Given the description of an element on the screen output the (x, y) to click on. 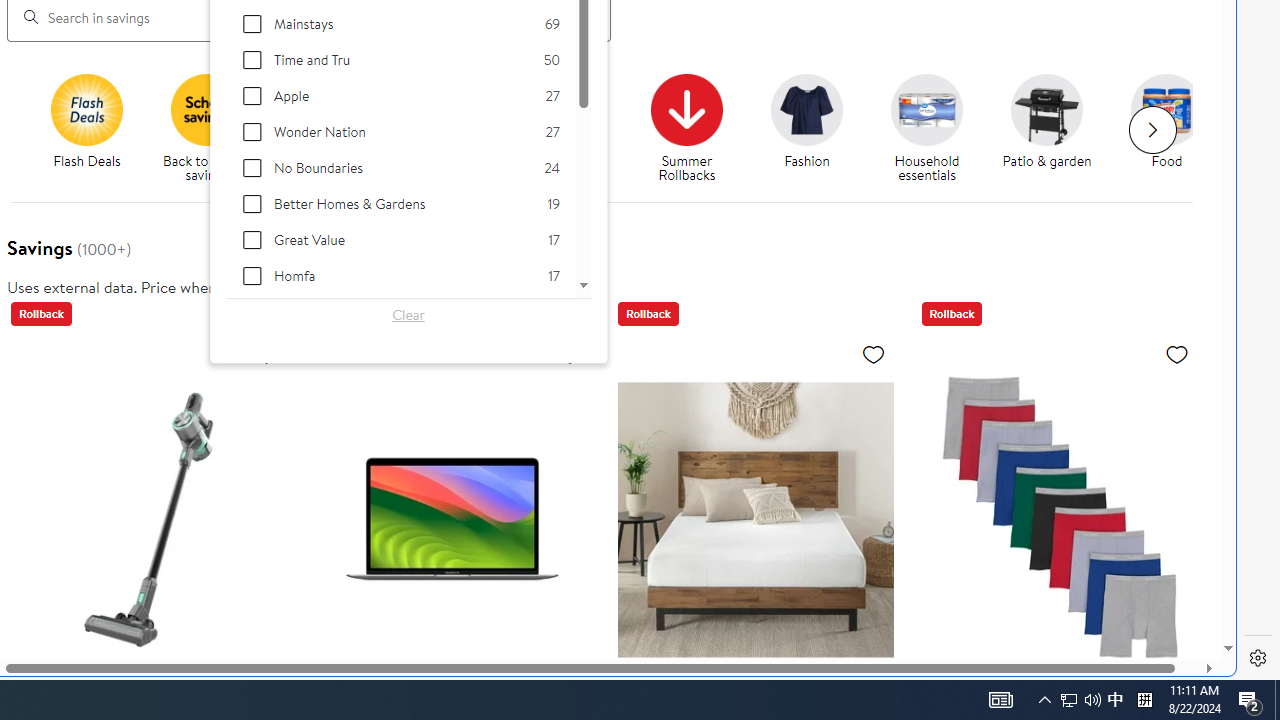
Food Food (1166, 122)
Household essentials (926, 109)
Summer Rollbacks (694, 128)
Get it today Get it today (566, 122)
Back to College savings Back to college savings (326, 128)
Summer Rollbacks (687, 109)
Fashion (806, 109)
Get it today (574, 128)
legal information (353, 286)
